Given the description of an element on the screen output the (x, y) to click on. 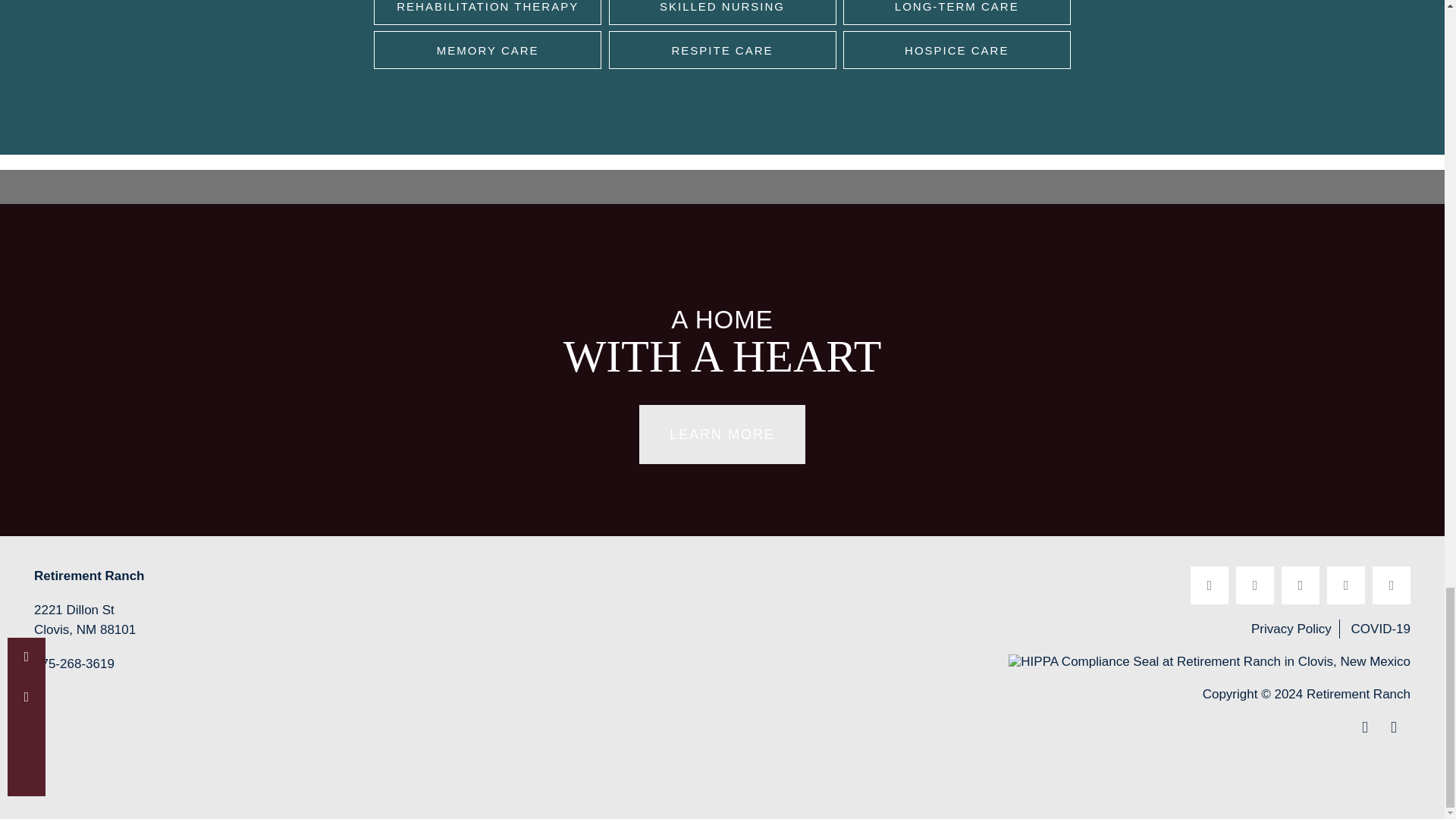
Google My Business (1391, 585)
LinkedIn (1300, 585)
Facebook (1209, 585)
REHABILITATION THERAPY (487, 12)
Property Phone Number (74, 665)
Instagram (1345, 585)
MEMORY CARE (487, 49)
LONG-TERM CARE (956, 12)
SKILLED NURSING (721, 12)
Yelp (1255, 585)
